Given the description of an element on the screen output the (x, y) to click on. 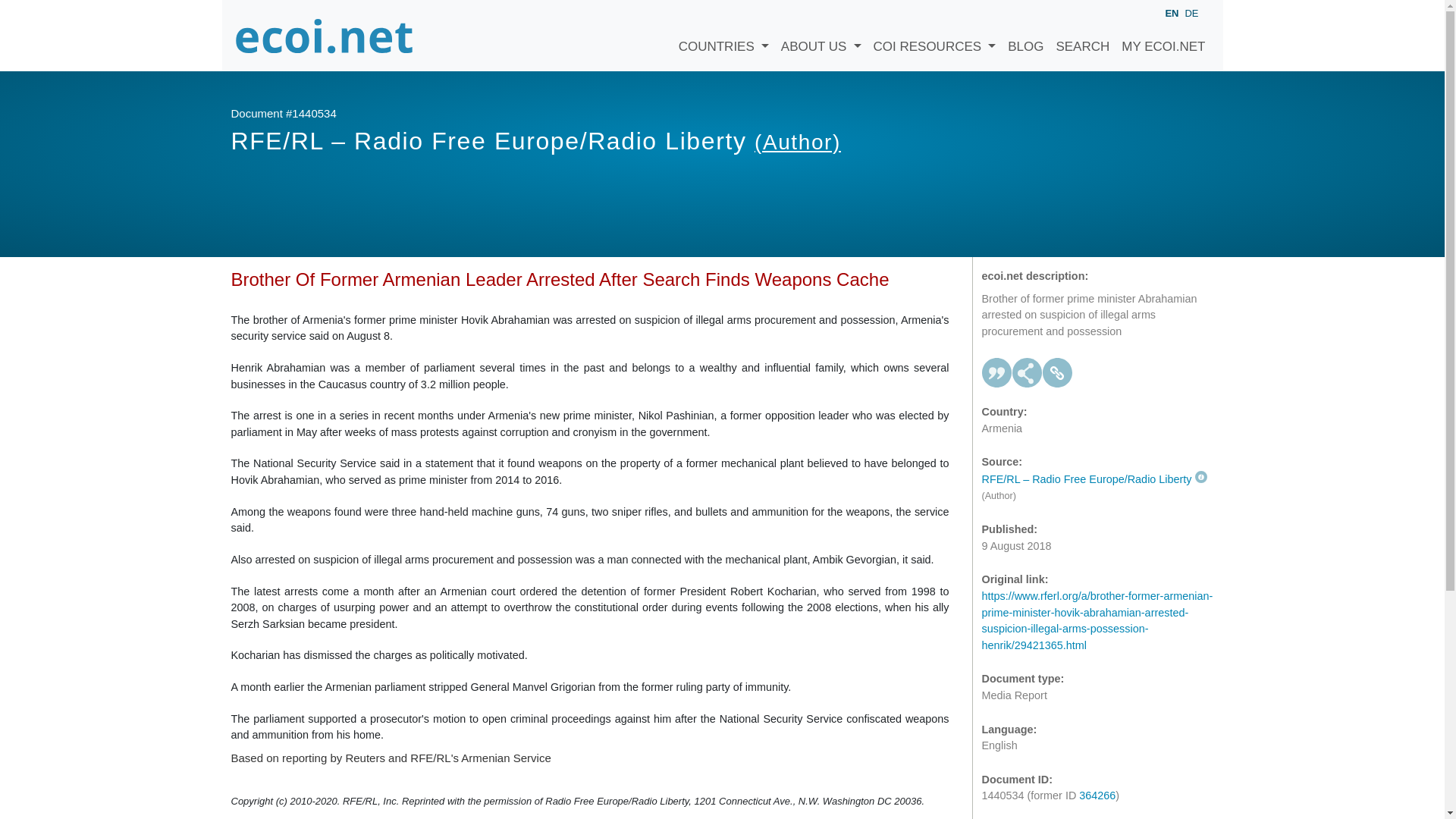
English (1170, 13)
Cite as (996, 372)
Go to ecoi.net homepage (323, 35)
ABOUT US (820, 35)
Permalink (1056, 372)
COI RESOURCES (935, 35)
BLOG (1025, 35)
MY ECOI.NET (1163, 35)
SEARCH (1082, 35)
COUNTRIES (723, 35)
Read source description (1094, 479)
364266 (1096, 795)
Share (1026, 372)
DE (1190, 12)
German (1190, 12)
